Given the description of an element on the screen output the (x, y) to click on. 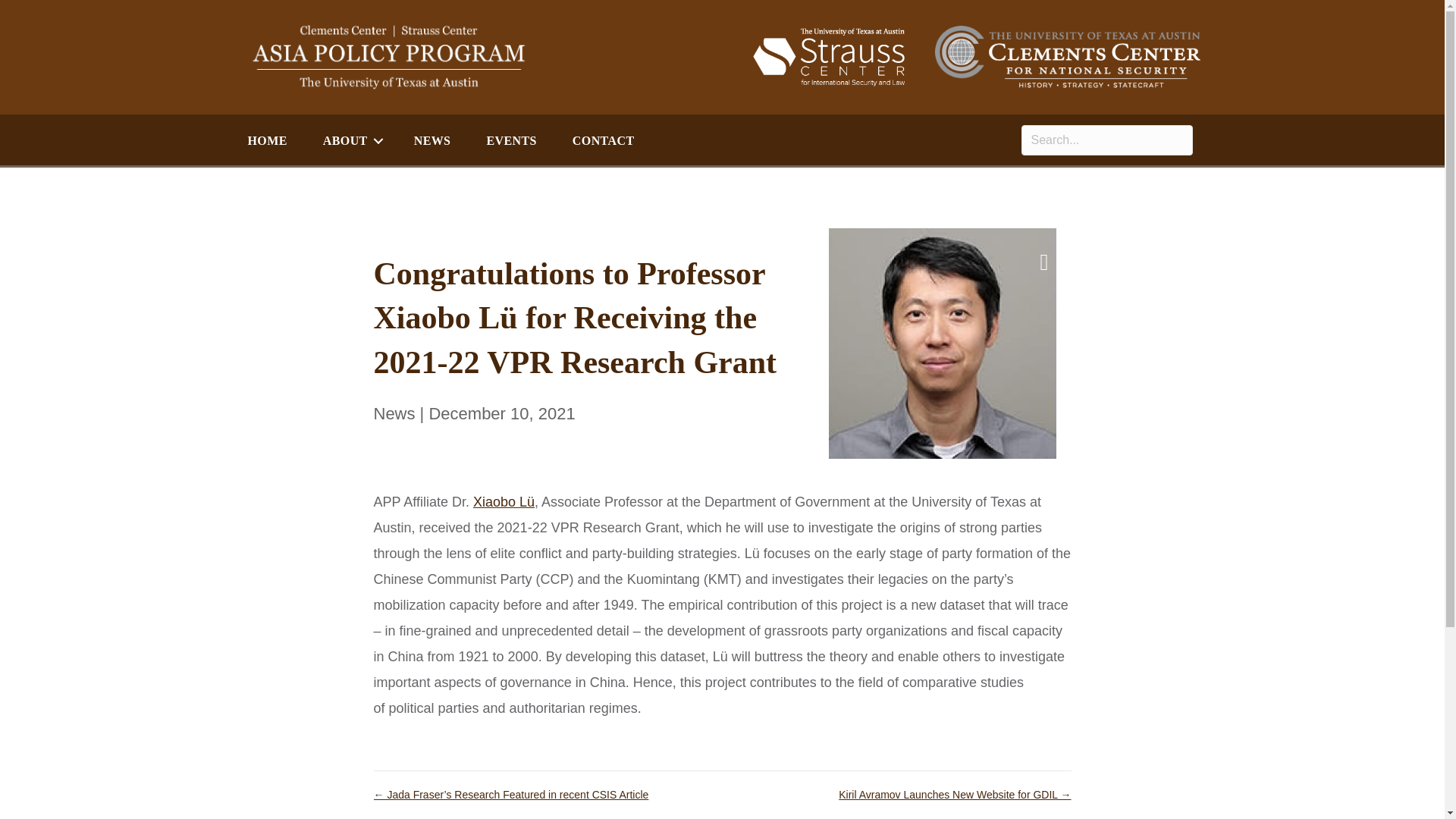
CONTACT (603, 141)
HOME (266, 141)
APP logo (388, 56)
EVENTS (511, 141)
ABOUT (350, 141)
NEWS (432, 141)
